Given the description of an element on the screen output the (x, y) to click on. 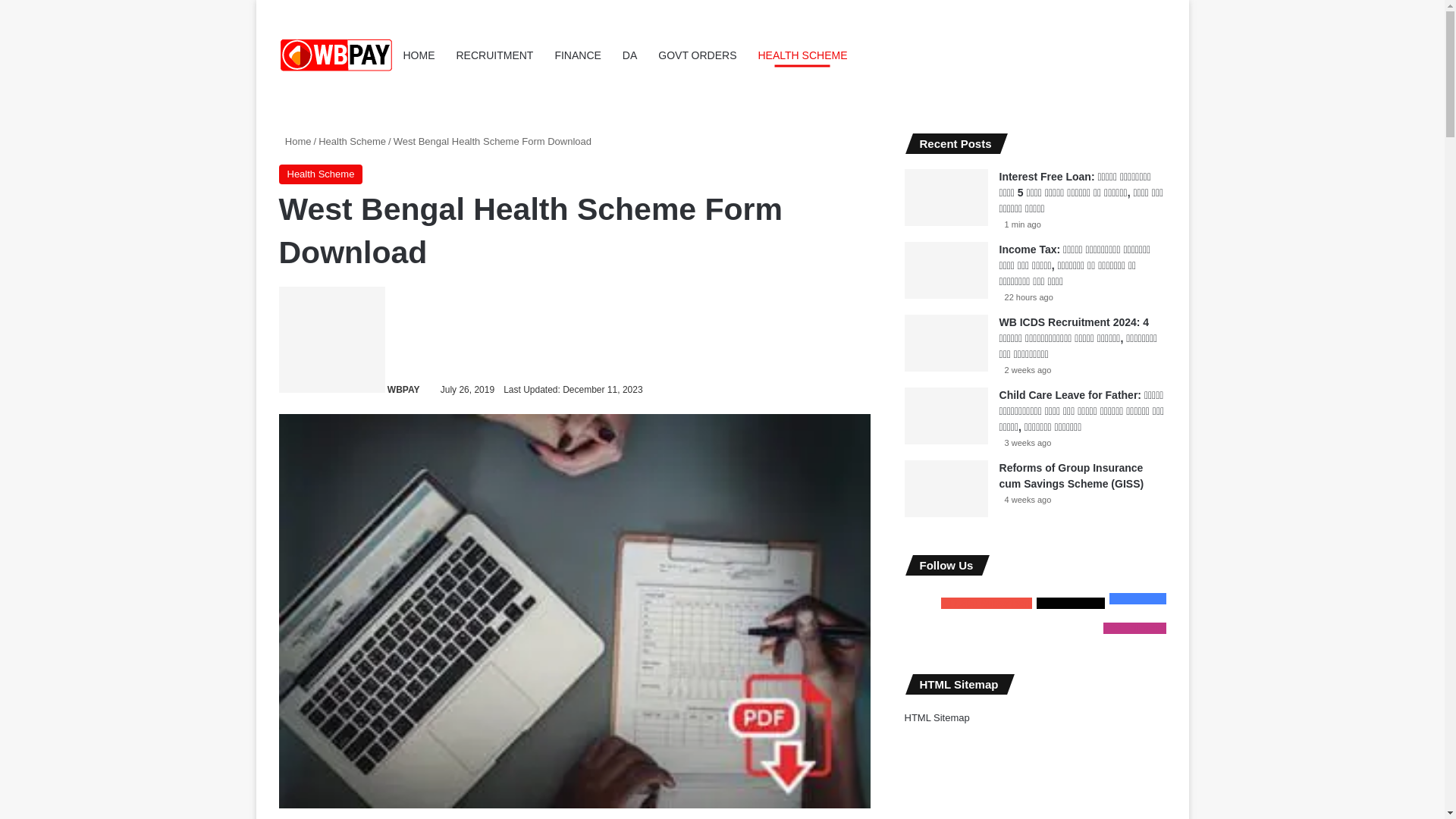
HEALTH SCHEME (803, 55)
Health Scheme (351, 141)
Health Scheme (320, 174)
WBPAY (403, 389)
RECRUITMENT (494, 55)
WBPAY (403, 389)
Home (295, 141)
GOVT ORDERS (696, 55)
WBPAY.IN (336, 54)
